Given the description of an element on the screen output the (x, y) to click on. 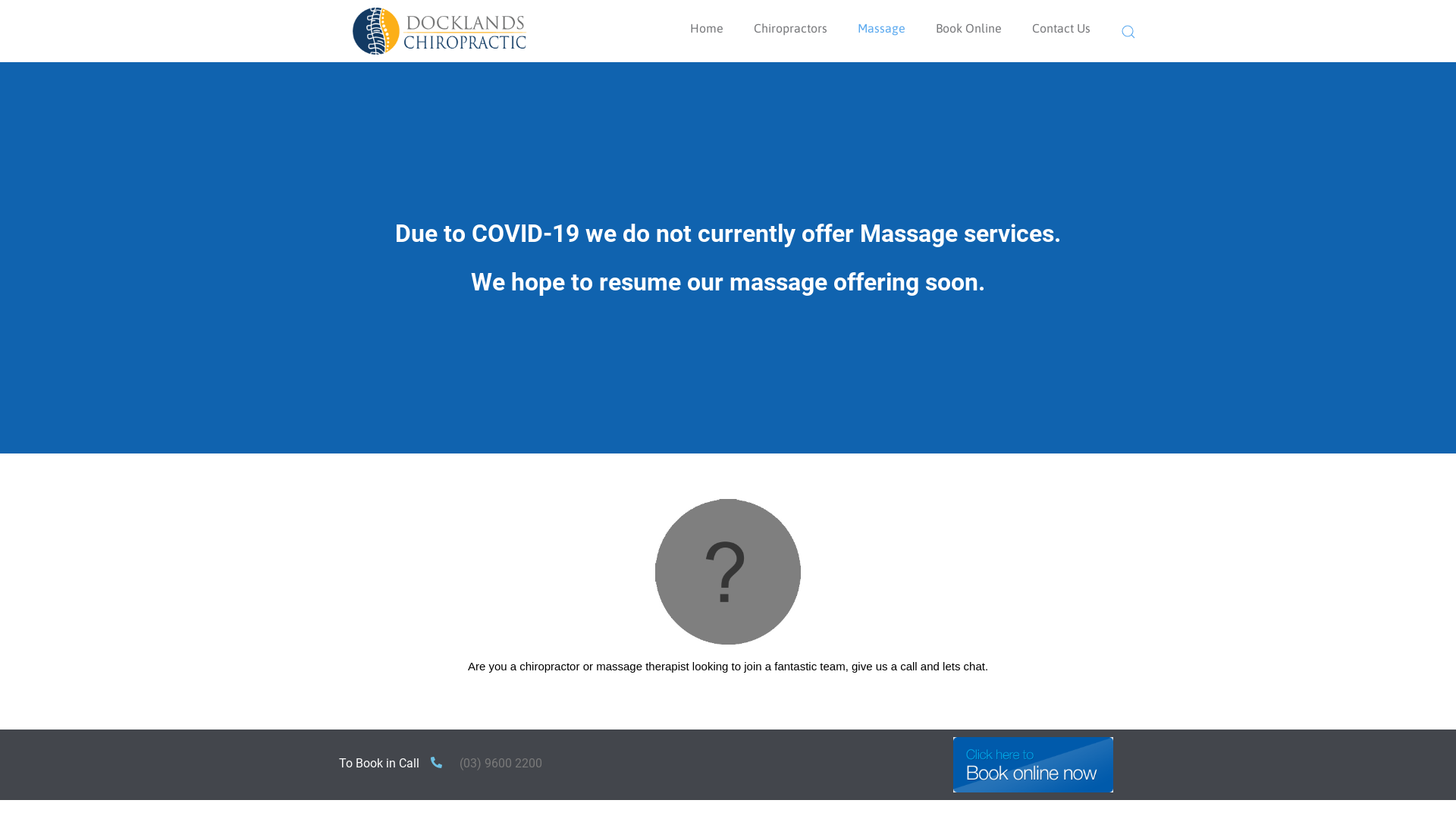
Contact Us Element type: text (1060, 27)
Chiropractors Element type: text (790, 27)
Search Element type: hover (1132, 31)
Home Element type: text (706, 27)
Massage Element type: text (881, 27)
Book Online Element type: text (968, 27)
